Given the description of an element on the screen output the (x, y) to click on. 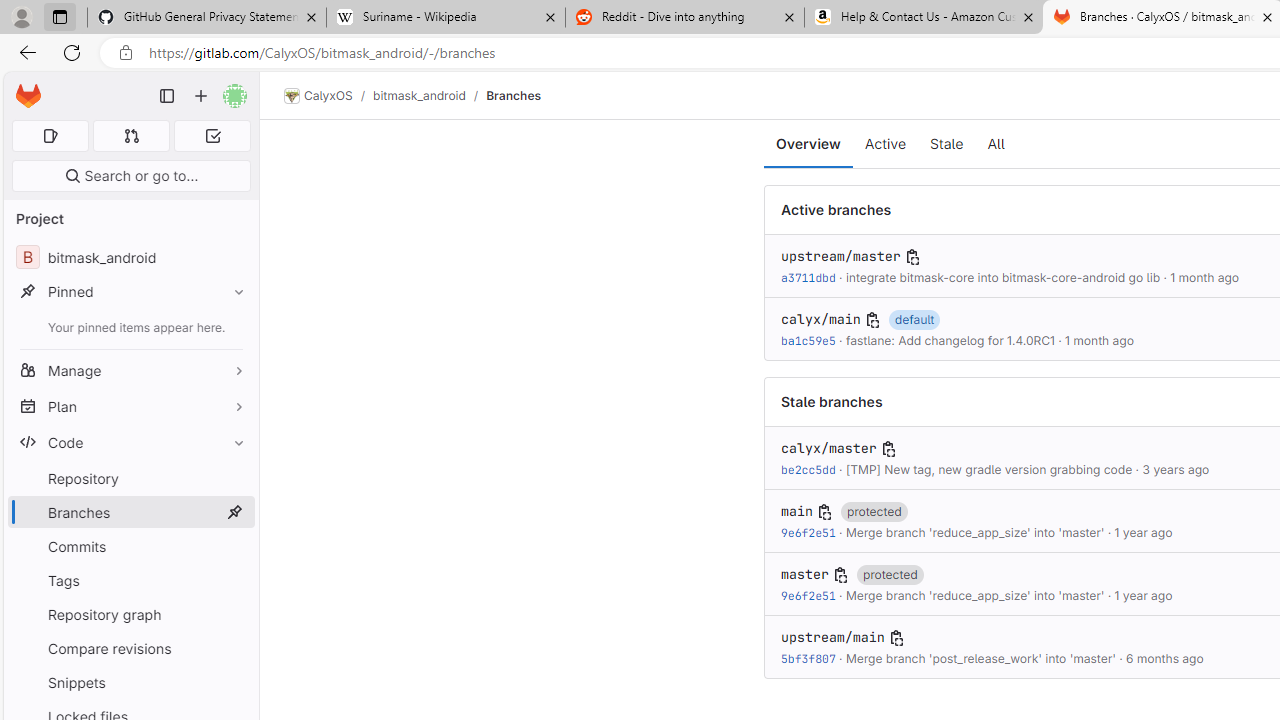
Plan (130, 406)
Code (130, 442)
a3711dbd (807, 277)
CalyxOS (318, 96)
bitmask_android/ (429, 95)
[TMP] New tag, new gradle version grabbing code (988, 469)
Bbitmask_android (130, 257)
Pin Snippets (234, 682)
Branches (513, 95)
Pin Repository (234, 478)
Back (24, 52)
Merge requests 0 (131, 136)
Pin Repository graph (234, 614)
calyx/master (828, 449)
Snippets (130, 682)
